Given the description of an element on the screen output the (x, y) to click on. 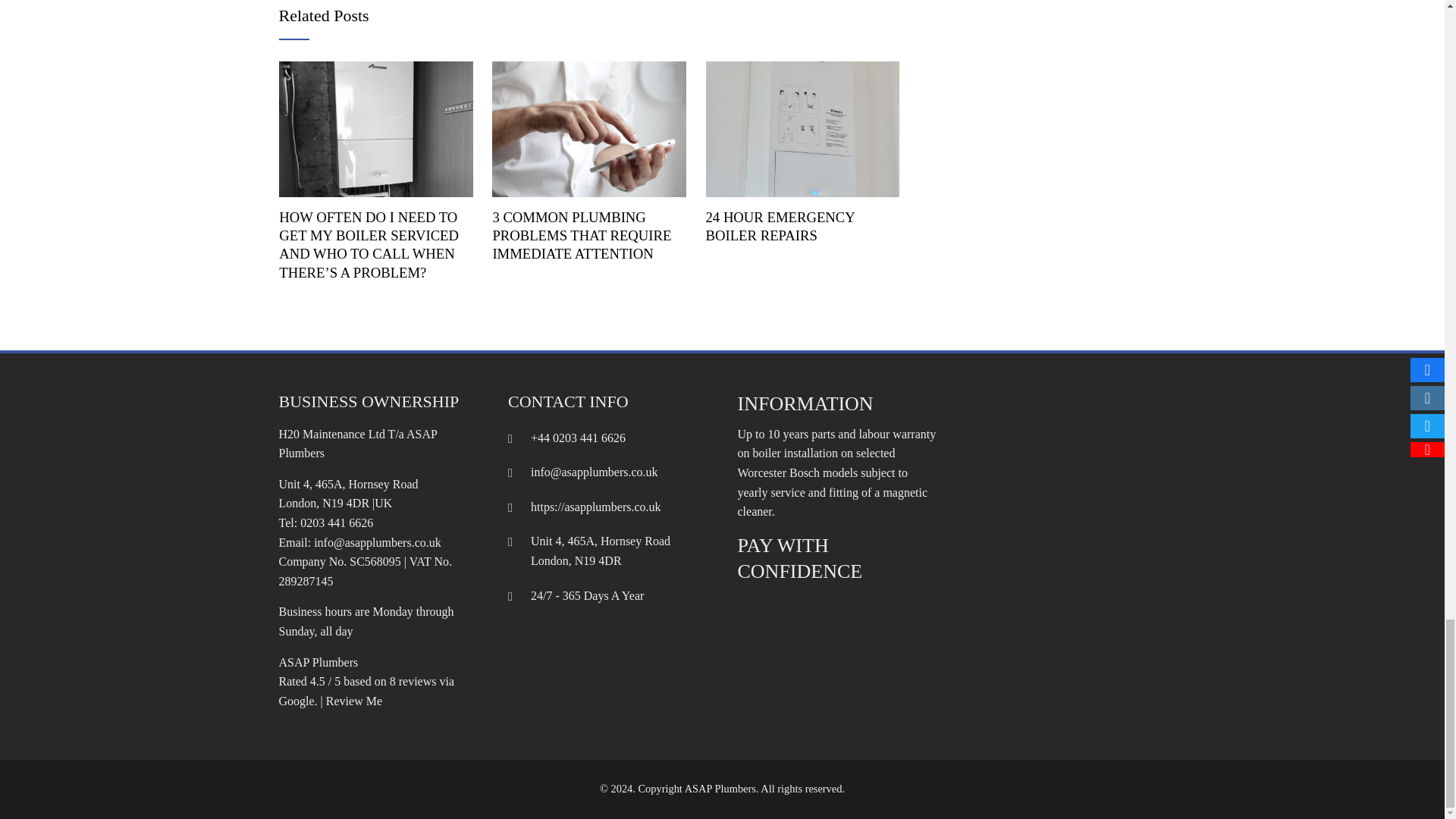
24 HOUR EMERGENCY BOILER REPAIRS (802, 127)
3 COMMON PLUMBING PROBLEMS THAT REQUIRE IMMEDIATE ATTENTION (588, 127)
3 COMMON PLUMBING PROBLEMS THAT REQUIRE IMMEDIATE ATTENTION (581, 235)
24 HOUR EMERGENCY BOILER REPAIRS (781, 226)
